Given the description of an element on the screen output the (x, y) to click on. 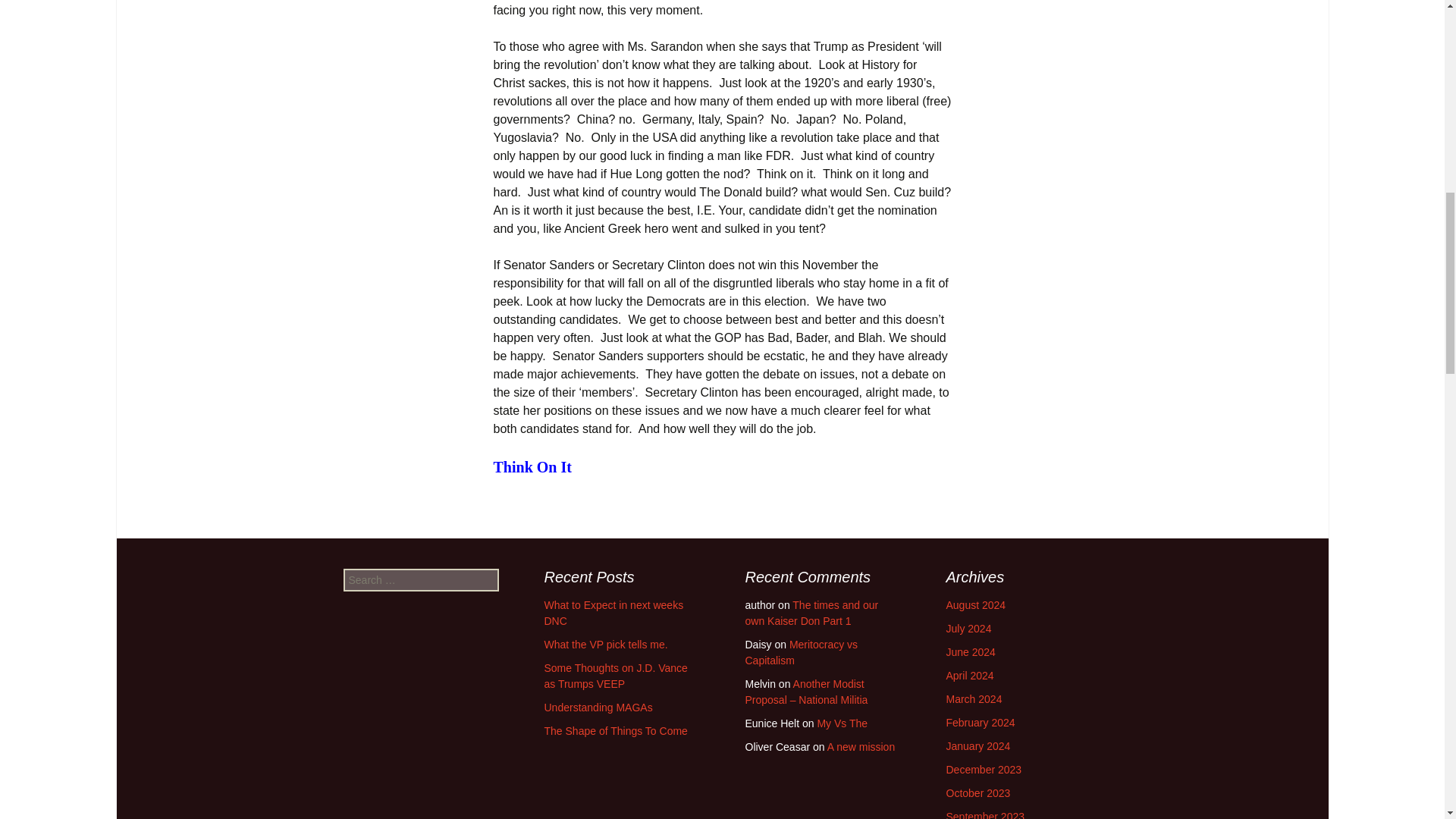
January 2024 (978, 746)
The times and our own Kaiser Don Part 1 (810, 612)
What the VP pick tells me. (606, 644)
March 2024 (974, 698)
December 2023 (984, 769)
Some Thoughts on J.D. Vance as Trumps VEEP (615, 675)
A new mission (861, 746)
June 2024 (970, 652)
April 2024 (970, 675)
Understanding MAGAs (598, 707)
